Given the description of an element on the screen output the (x, y) to click on. 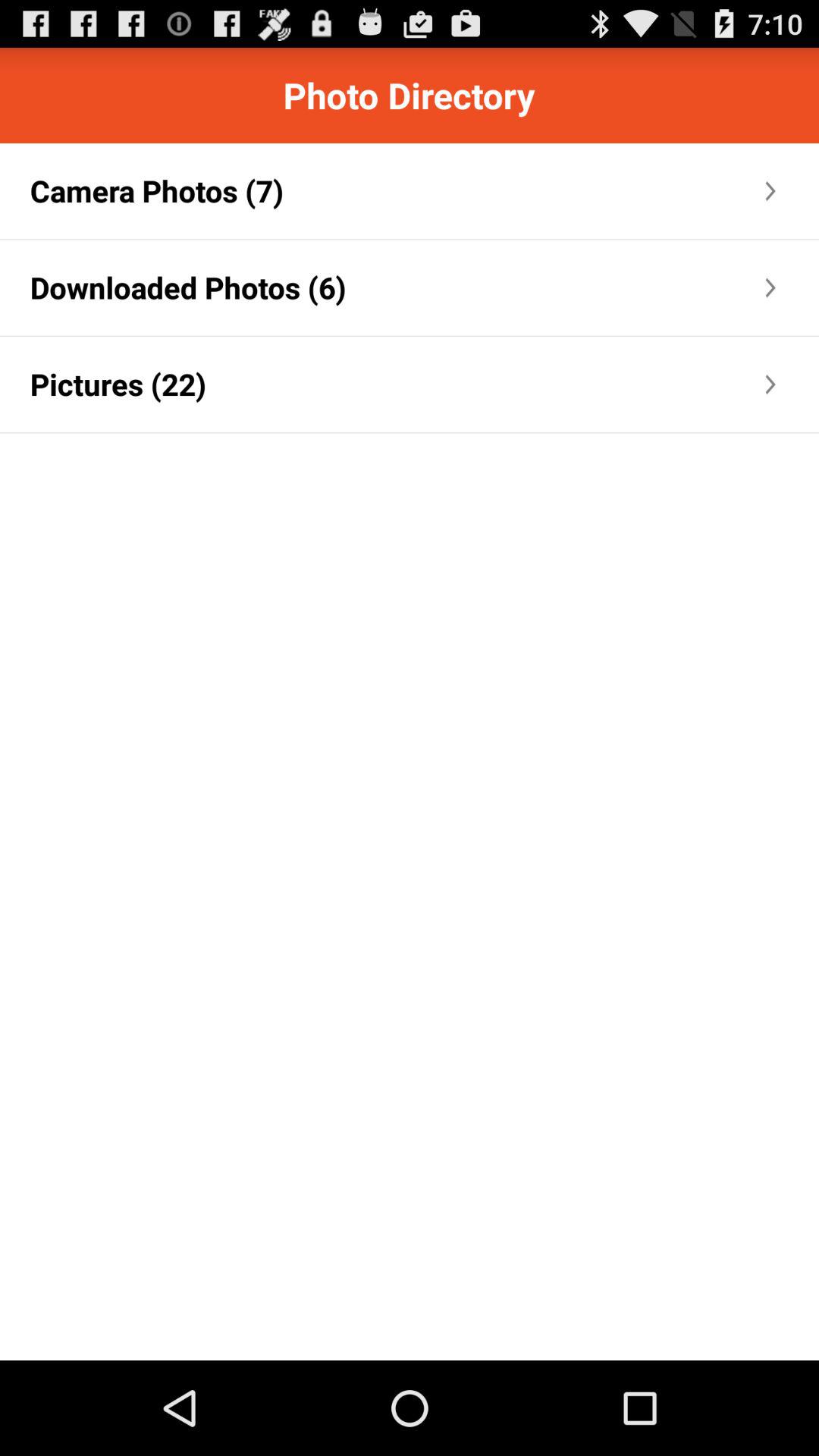
turn off camera photos (7) (156, 190)
